Given the description of an element on the screen output the (x, y) to click on. 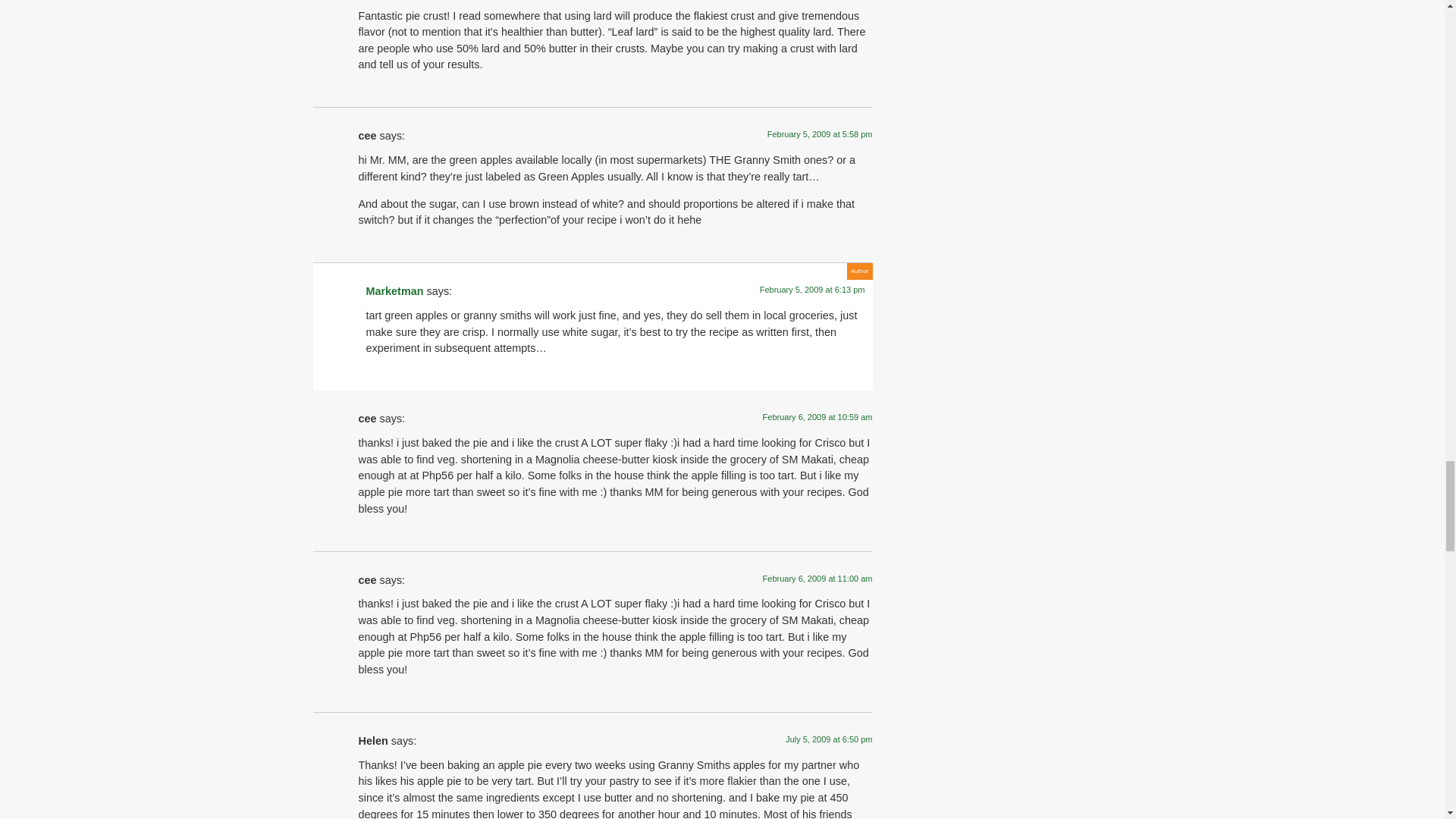
February 5, 2009 at 6:13 pm (812, 289)
February 6, 2009 at 10:59 am (817, 416)
Marketman (394, 291)
February 6, 2009 at 11:00 am (817, 578)
February 5, 2009 at 5:58 pm (819, 133)
July 5, 2009 at 6:50 pm (829, 738)
